Given the description of an element on the screen output the (x, y) to click on. 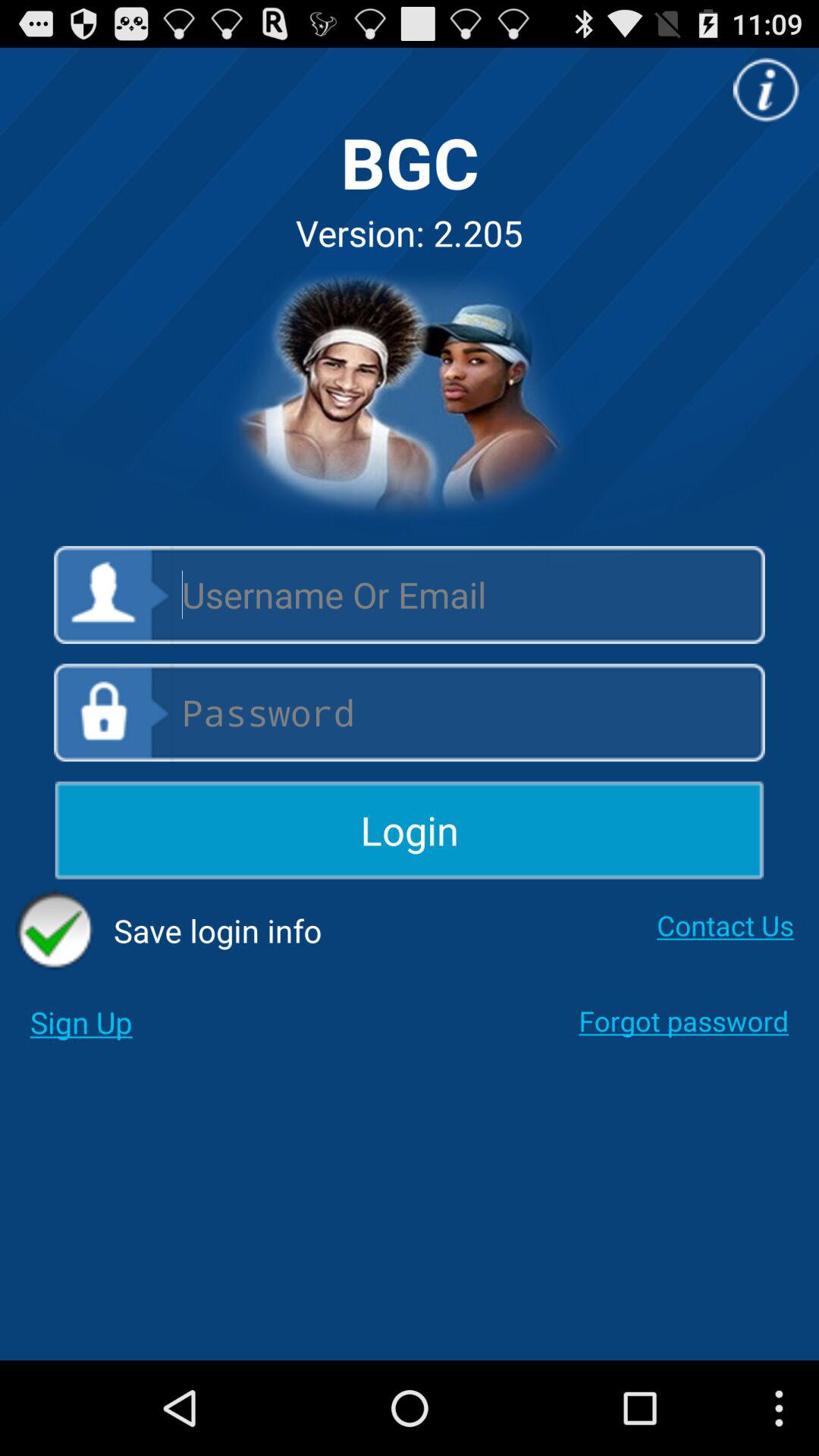
open the icon below login (168, 930)
